Given the description of an element on the screen output the (x, y) to click on. 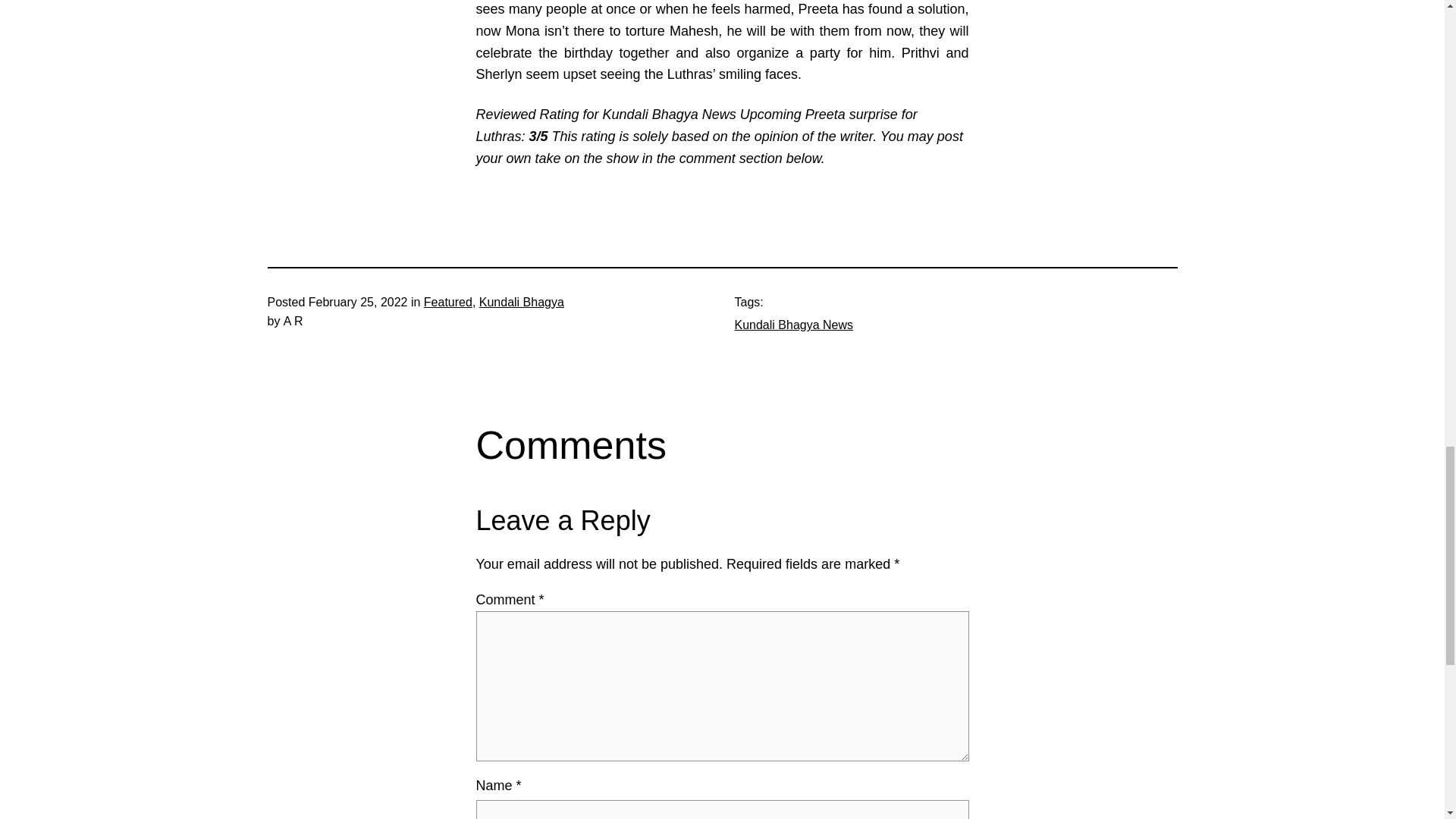
Kundali Bhagya News (793, 324)
Featured (447, 301)
Kundali Bhagya (521, 301)
